Given the description of an element on the screen output the (x, y) to click on. 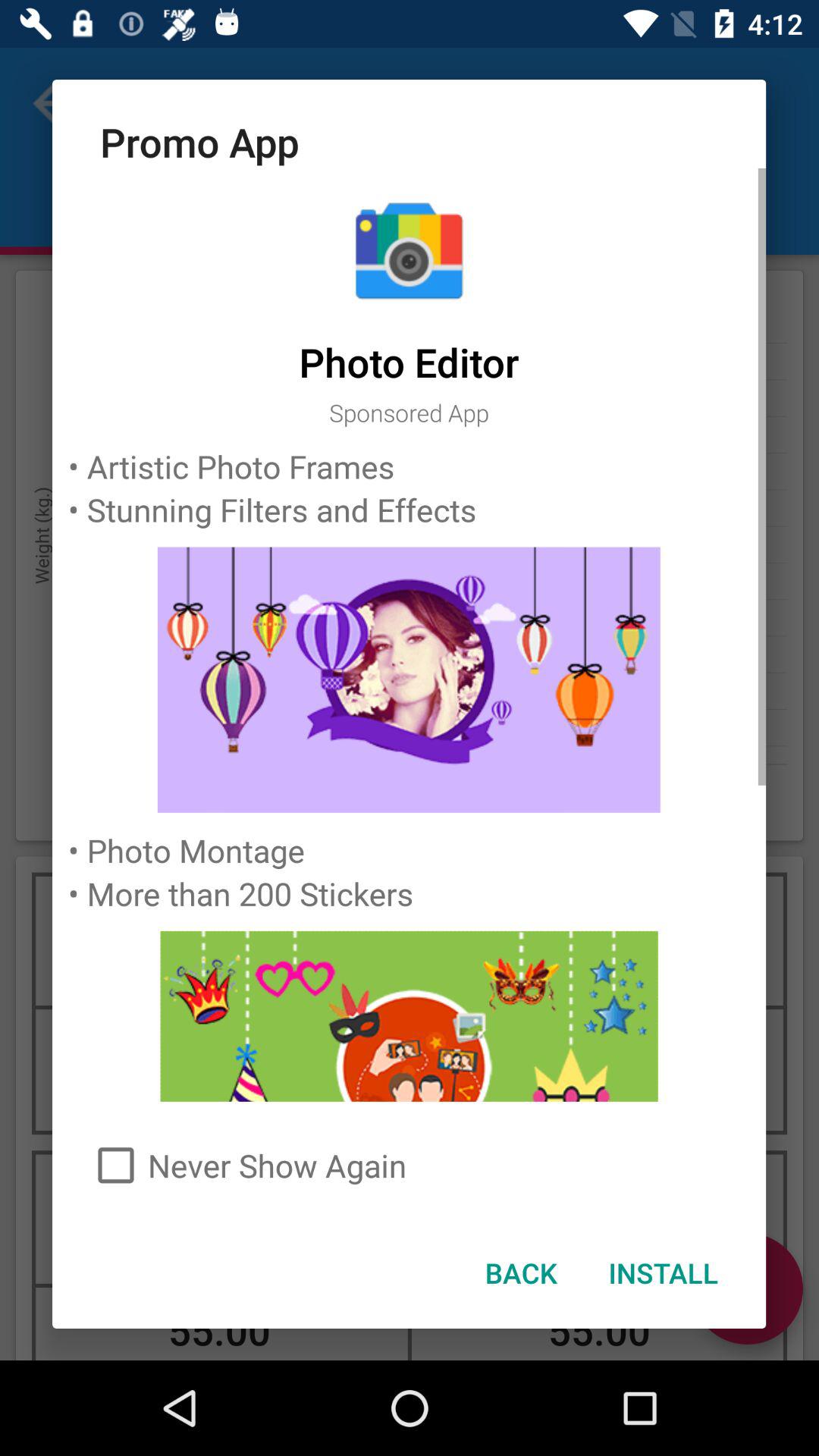
click the icon below never show again item (520, 1272)
